Given the description of an element on the screen output the (x, y) to click on. 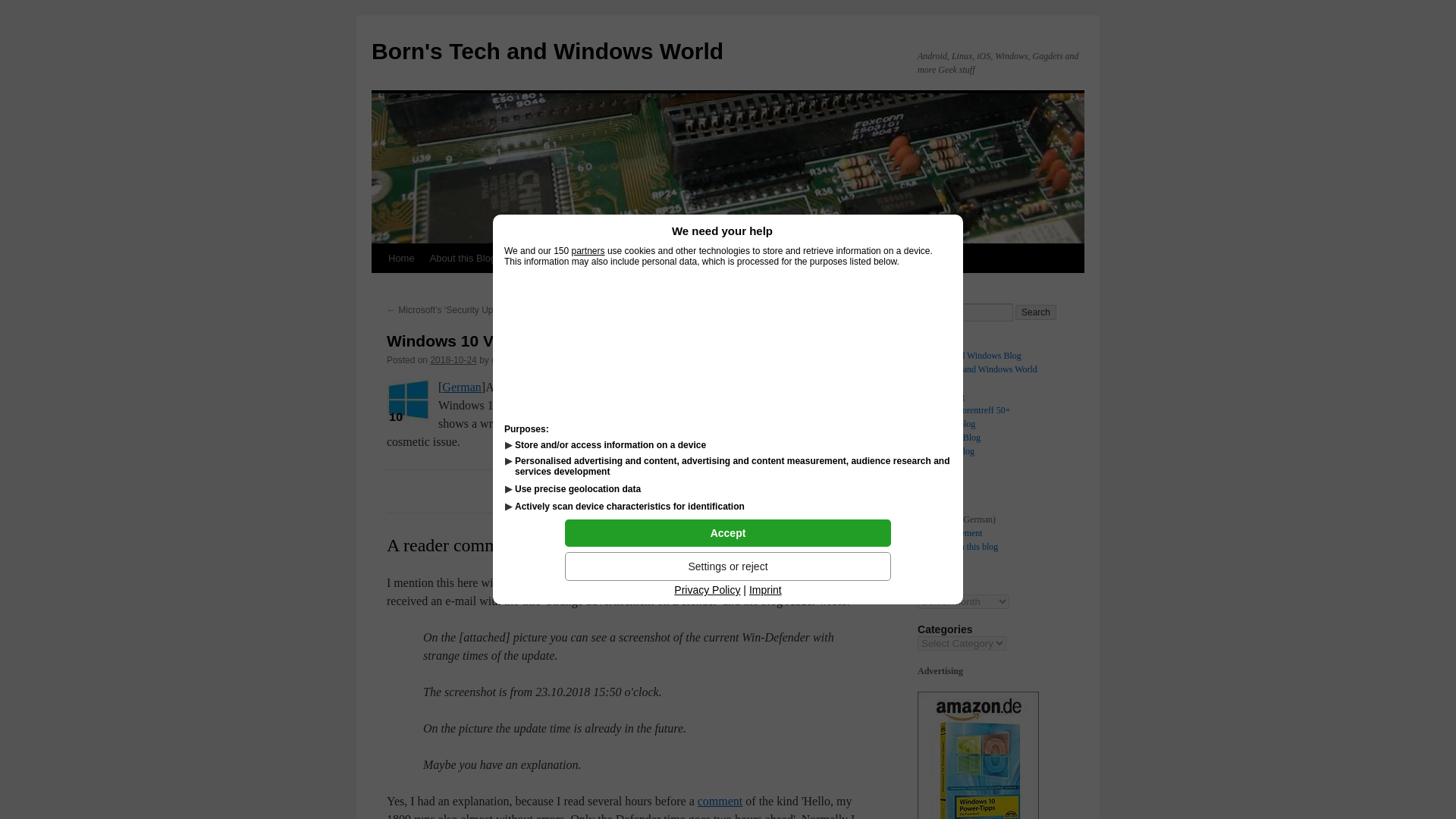
About this Blog (462, 258)
guenni (505, 359)
Search (1035, 312)
Born's Tech and Windows World (547, 50)
Mein Reiseblog (946, 423)
Mein Japan-Blog (948, 437)
Born IT- und Windows Blog (969, 355)
E-Scooter-Blog (945, 450)
Privacy statement (659, 258)
Privacy statement (949, 532)
About (928, 505)
View all posts by guenni (505, 359)
2018-10-24 (452, 359)
Born's Tech and Windows World (976, 368)
Win10 Wiki (738, 258)
